Given the description of an element on the screen output the (x, y) to click on. 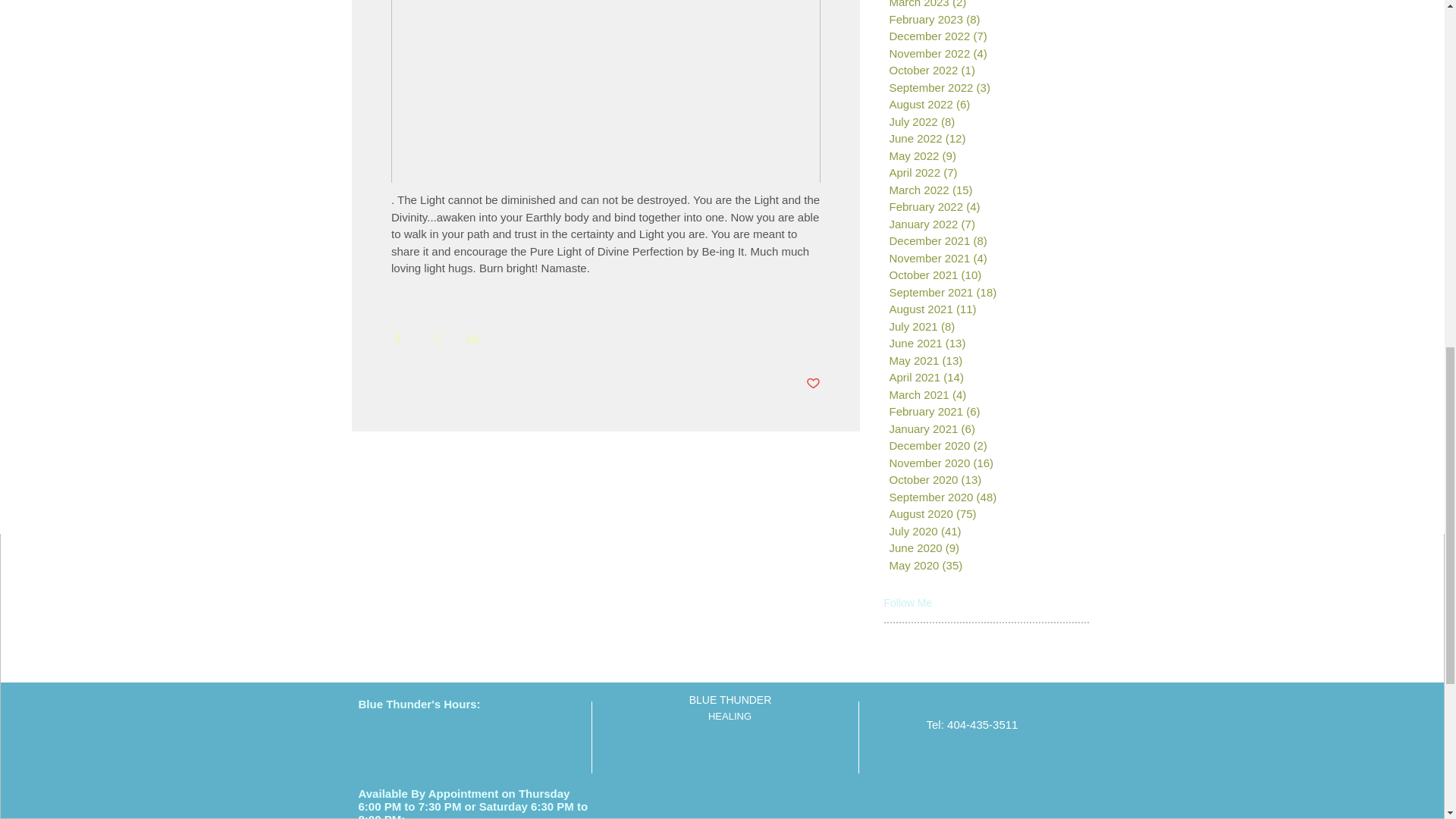
Post not marked as liked (812, 383)
